Given the description of an element on the screen output the (x, y) to click on. 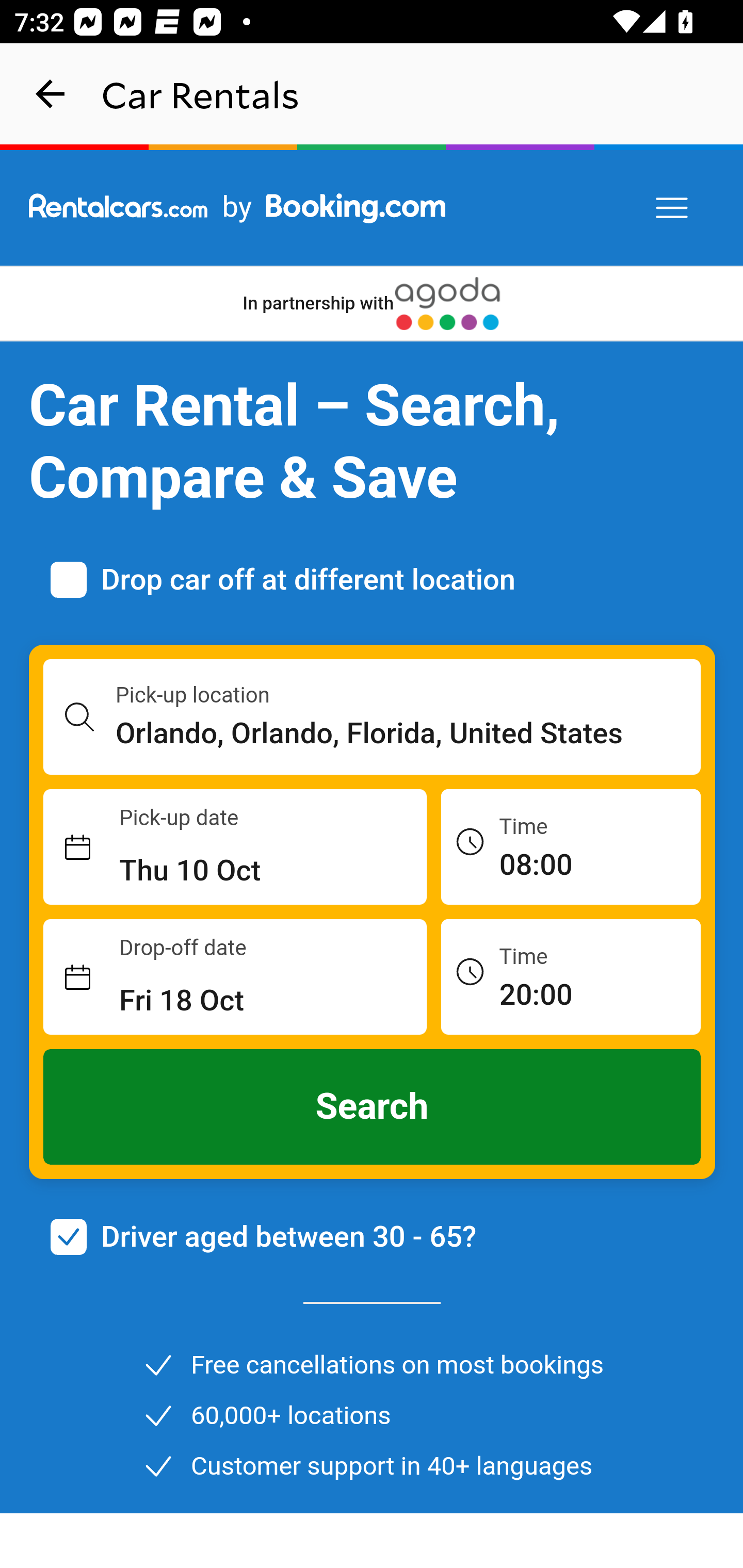
navigation_button (50, 93)
